Given the description of an element on the screen output the (x, y) to click on. 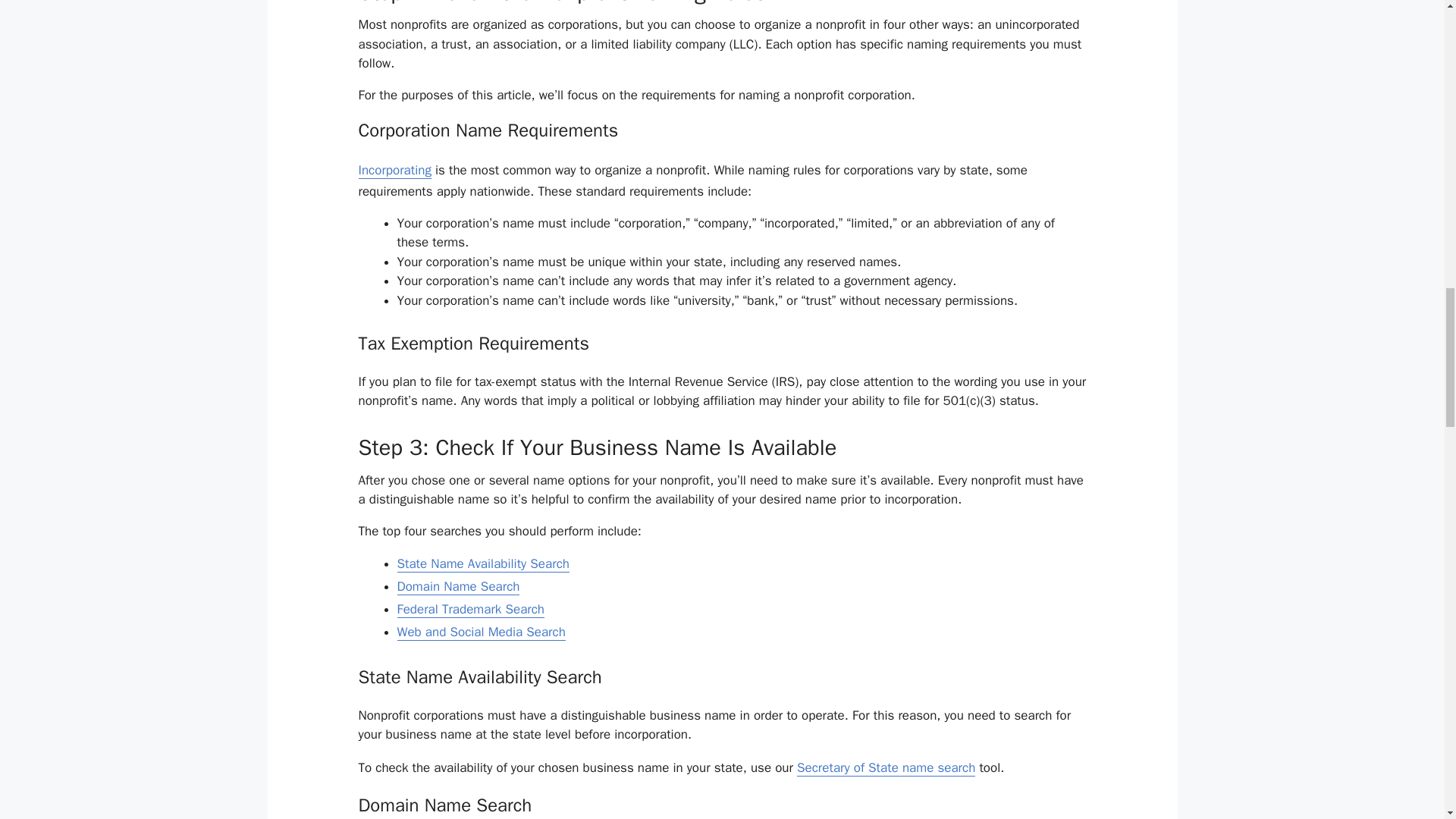
Domain Name Search (458, 586)
Web and Social Media Search (481, 632)
Incorporating (394, 170)
Secretary of State name search (885, 768)
State Name Availability Search (483, 564)
Federal Trademark Search (470, 609)
